Given the description of an element on the screen output the (x, y) to click on. 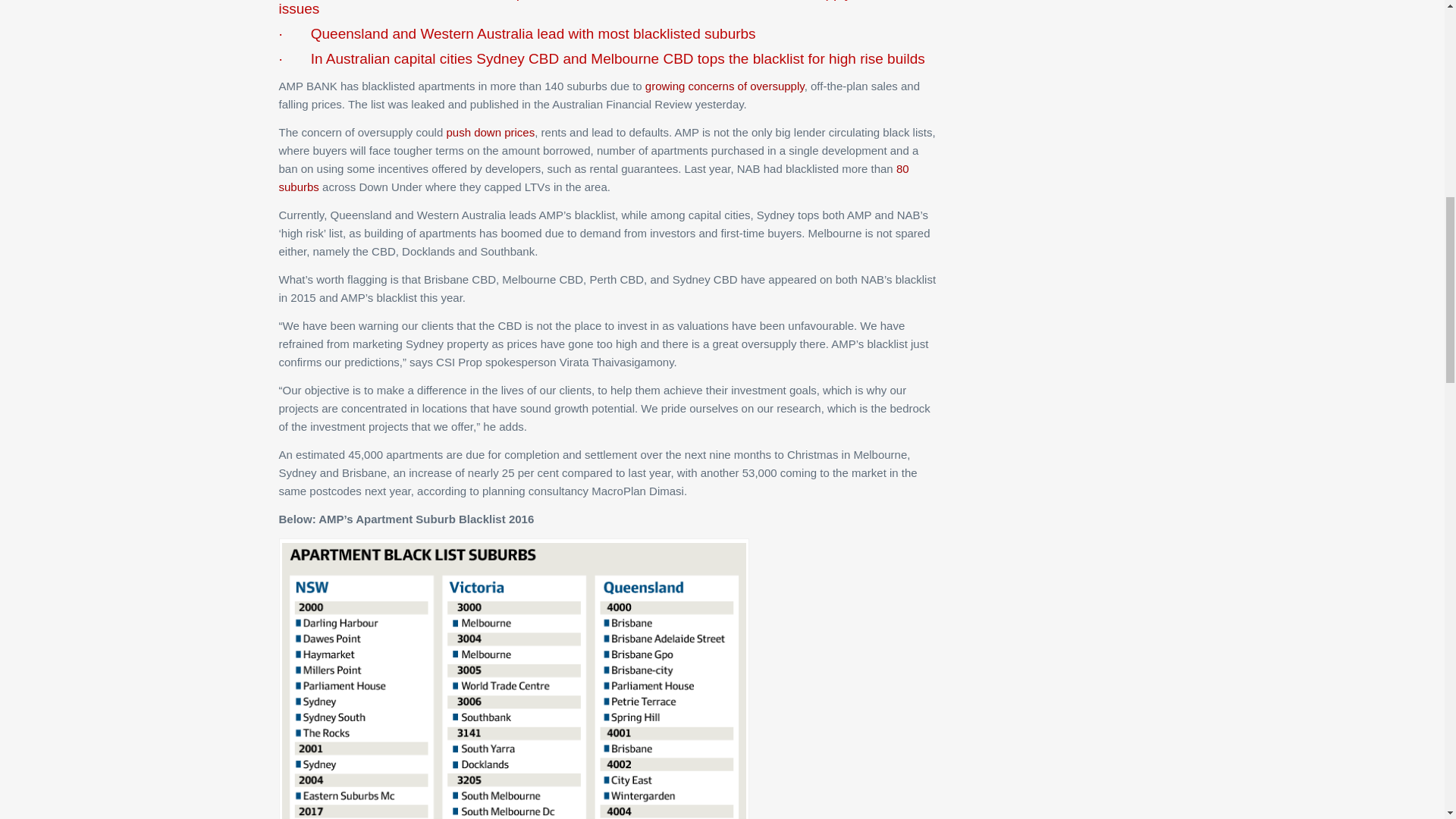
growing concerns of oversupply (725, 85)
push down prices (489, 132)
80 suburbs (593, 177)
